Given the description of an element on the screen output the (x, y) to click on. 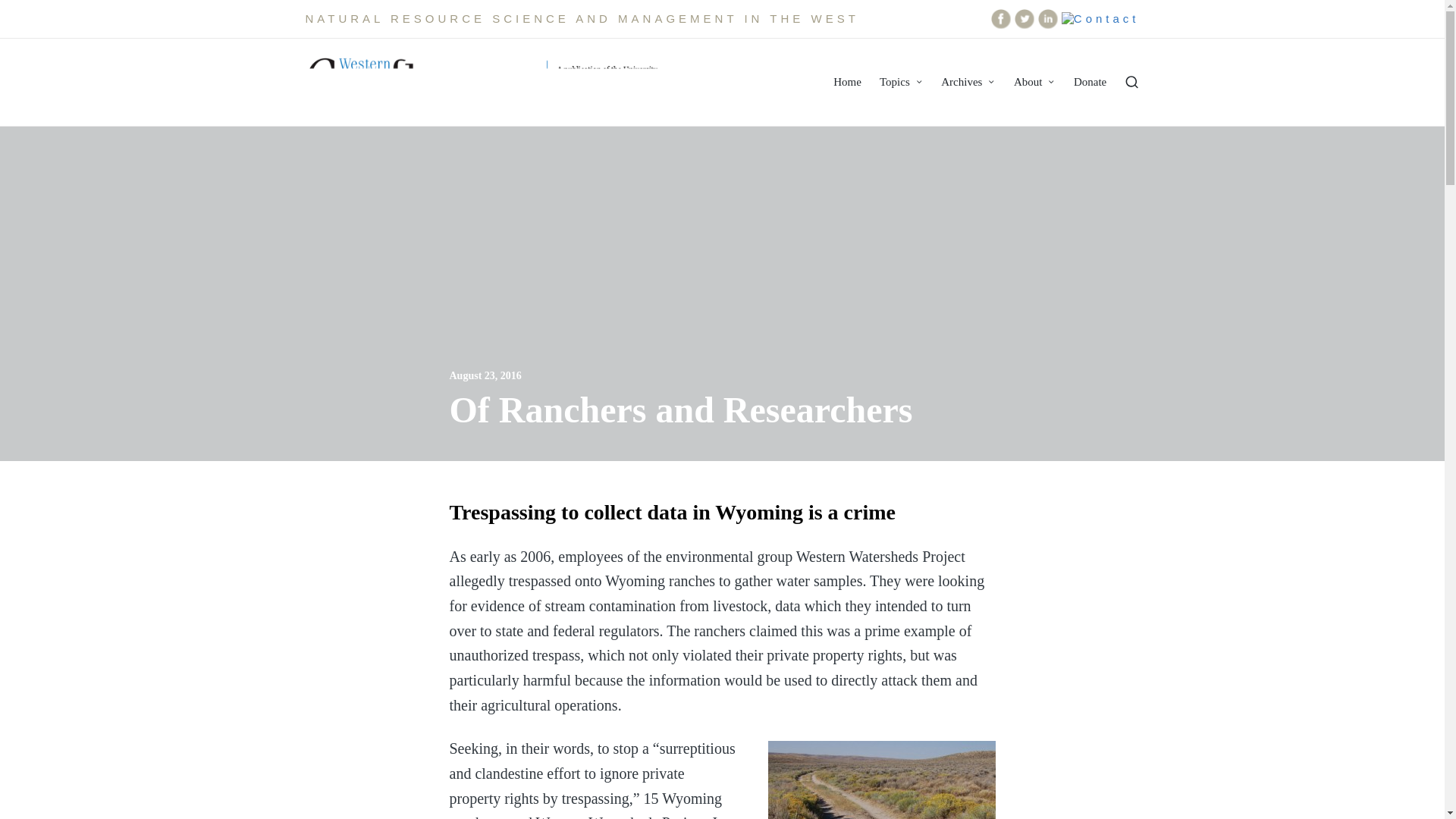
Archives (967, 81)
About (1034, 81)
Topics (901, 81)
Home (846, 81)
